Given the description of an element on the screen output the (x, y) to click on. 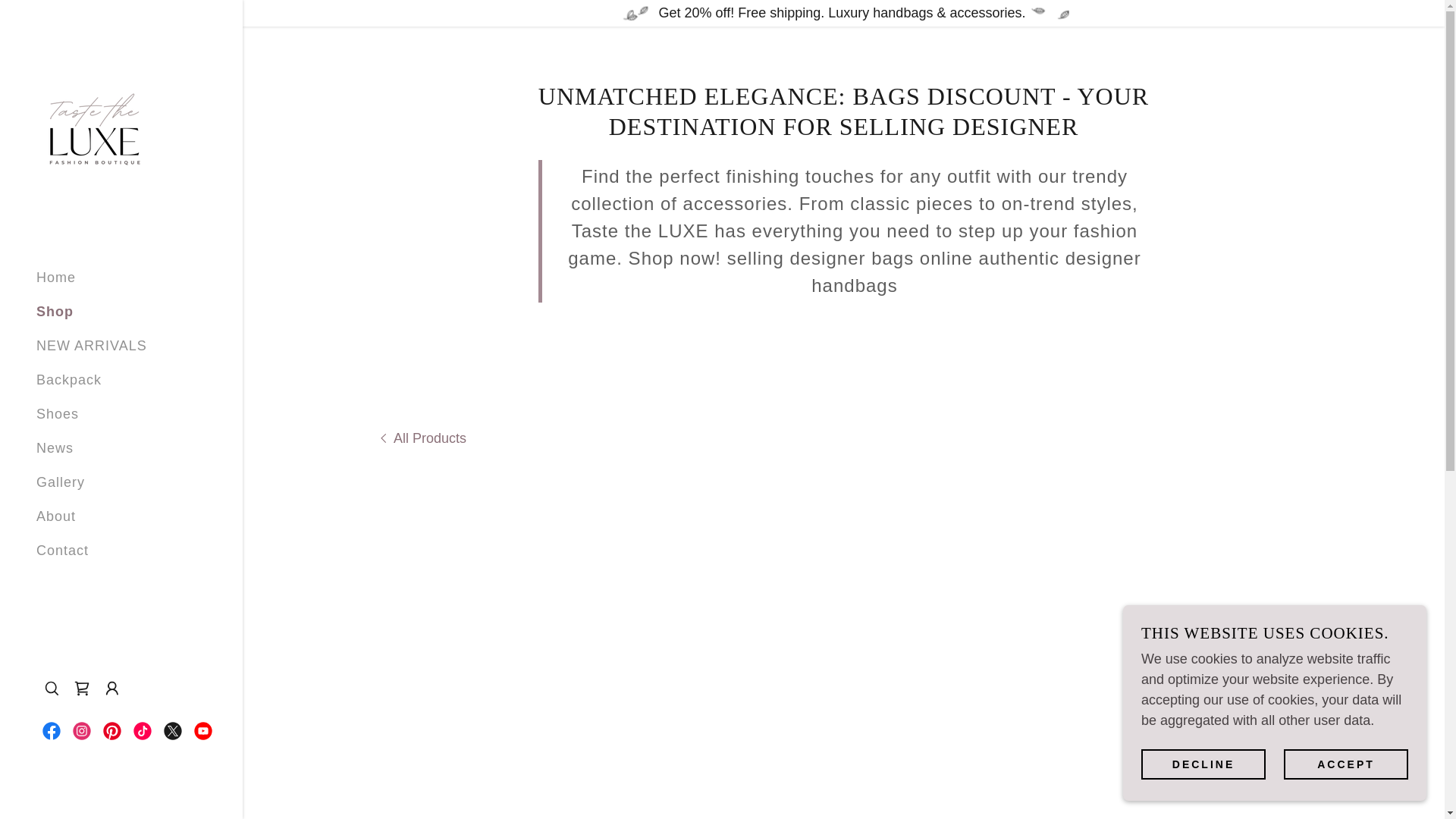
Shoes (57, 413)
Gallery (60, 482)
About (55, 516)
Contact (62, 549)
NEW ARRIVALS (91, 345)
News (55, 447)
Shop (55, 311)
Backpack (68, 379)
Home (55, 277)
Taste the luxe (92, 127)
